Given the description of an element on the screen output the (x, y) to click on. 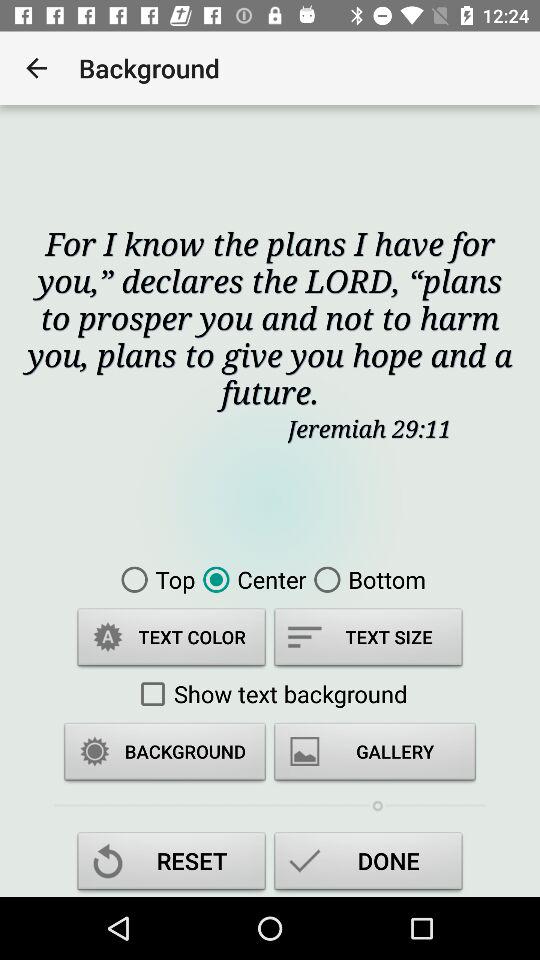
flip to the done icon (368, 863)
